Given the description of an element on the screen output the (x, y) to click on. 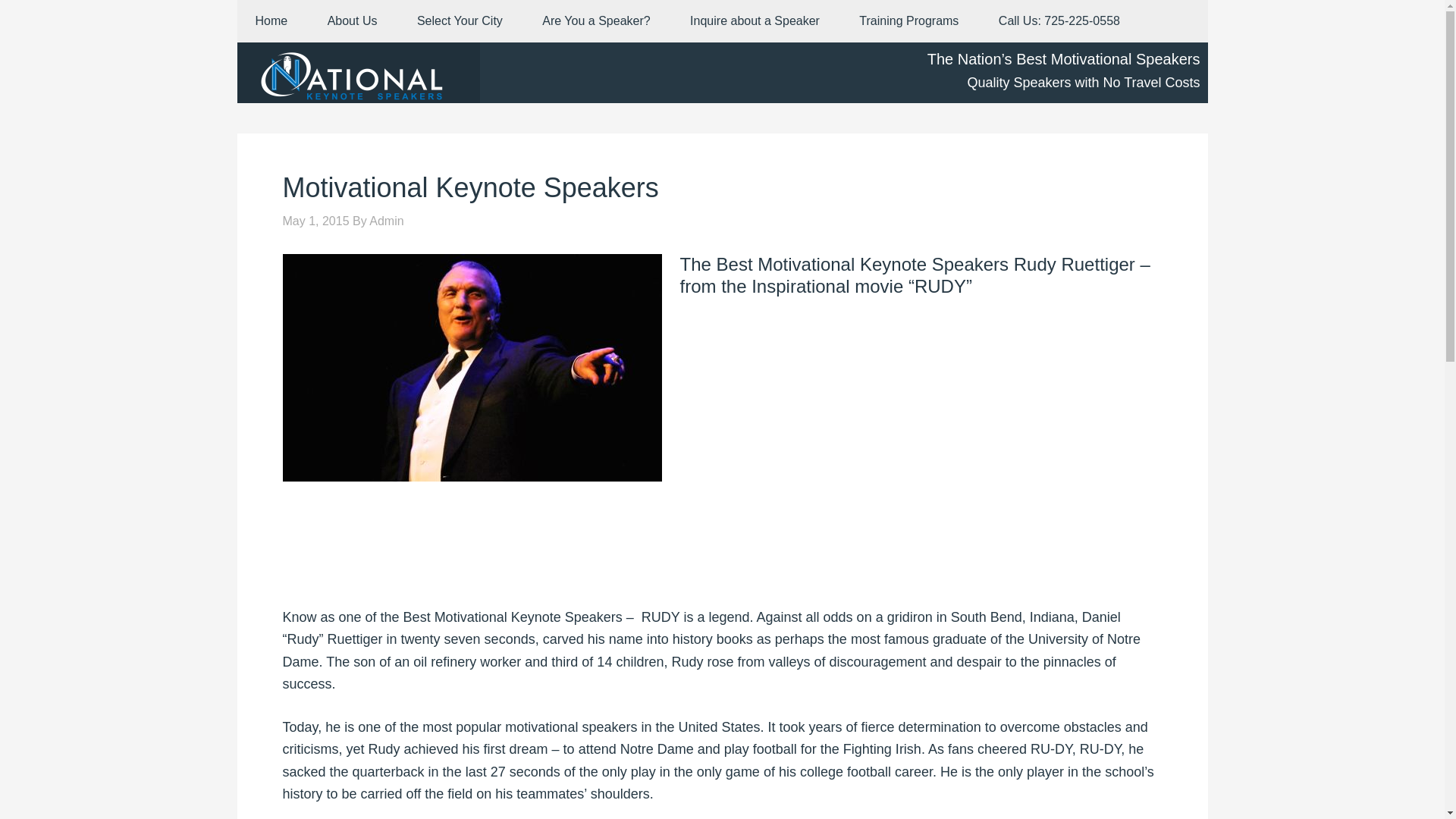
Call Us: 725-225-0558 (1058, 21)
Motivational Keynote Speakers (470, 187)
National Keynote Speakers (357, 72)
Are You a Speaker? (596, 21)
Select Your City (459, 21)
About Us (352, 21)
Inquire about a Speaker (754, 21)
Admin (386, 220)
Training Programs (908, 21)
Home (270, 21)
